Given the description of an element on the screen output the (x, y) to click on. 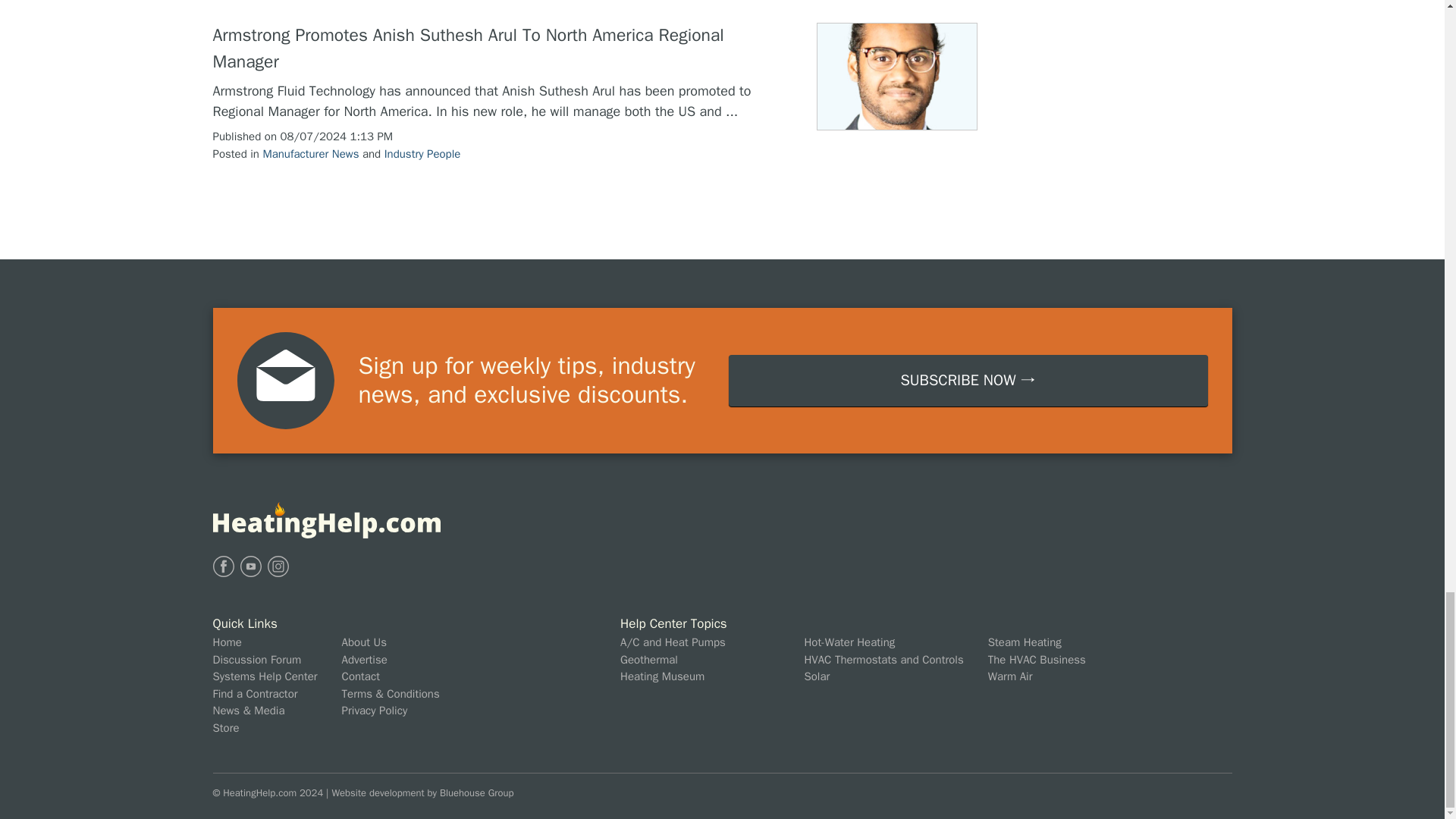
Industry People (422, 153)
Manufacturer News (310, 153)
